Given the description of an element on the screen output the (x, y) to click on. 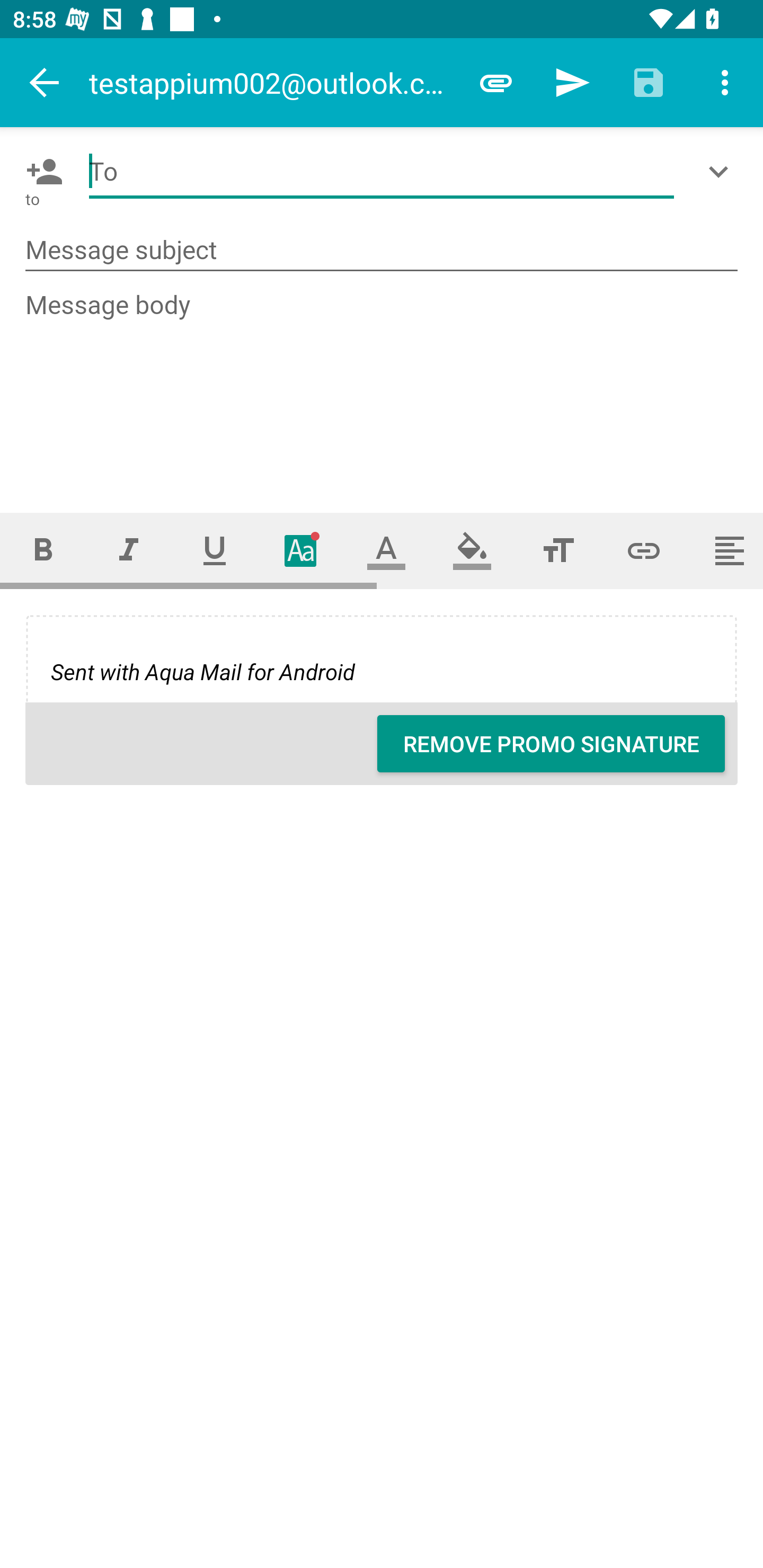
Navigate up (44, 82)
testappium002@outlook.com (273, 82)
Attach (495, 82)
Send (572, 82)
Save (648, 82)
More options (724, 81)
Pick contact: To (41, 171)
Show/Add CC/BCC (721, 171)
To (381, 171)
Message subject (381, 249)
Bold (42, 550)
Italic (128, 550)
Underline (214, 550)
Typeface (font) (300, 550)
Text color (385, 550)
Fill color (471, 550)
Font size (558, 550)
Set link (643, 550)
Align left (724, 550)
REMOVE PROMO SIGNATURE (550, 744)
